Given the description of an element on the screen output the (x, y) to click on. 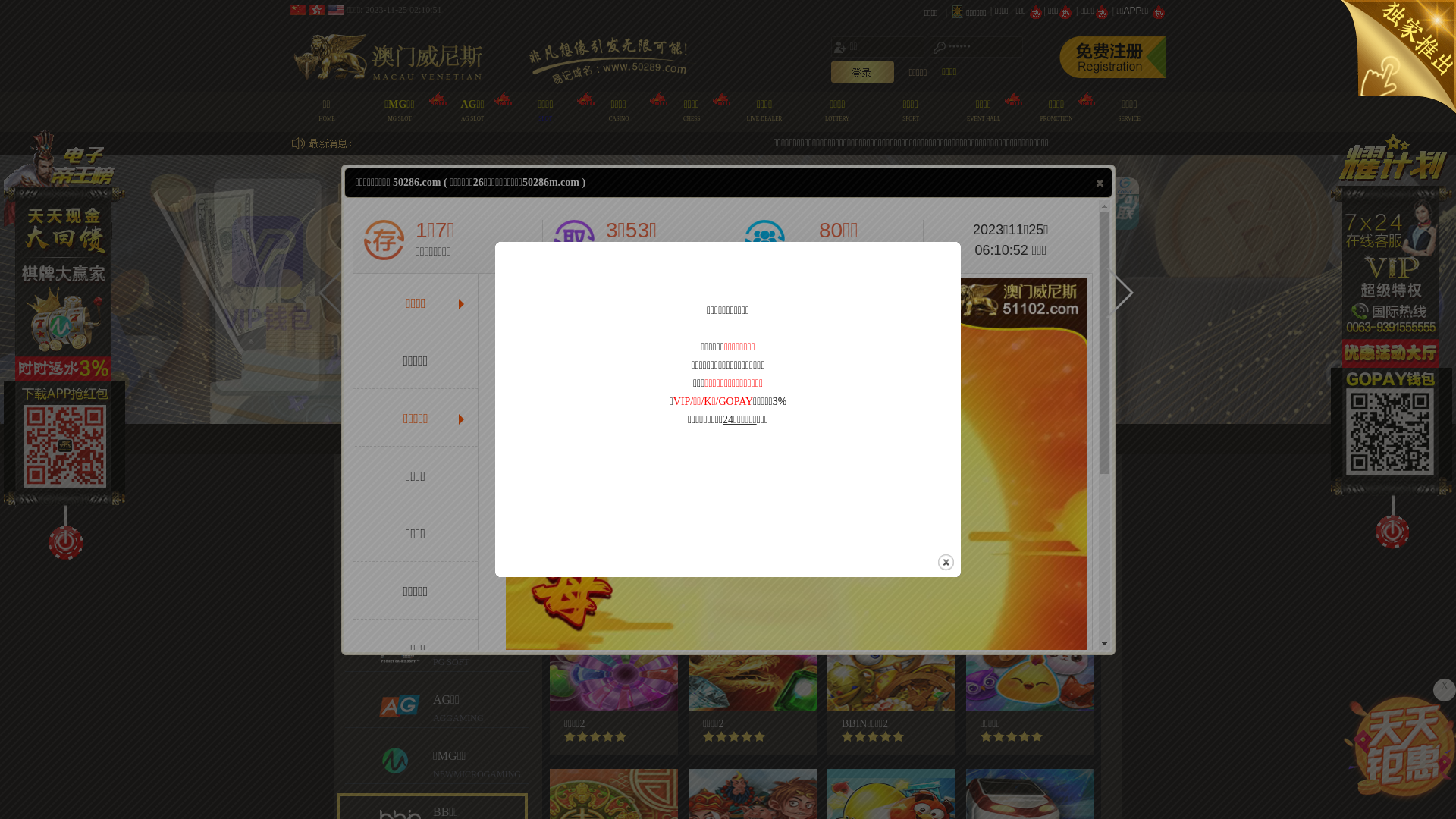
close Element type: text (1099, 182)
close Element type: text (945, 561)
